Given the description of an element on the screen output the (x, y) to click on. 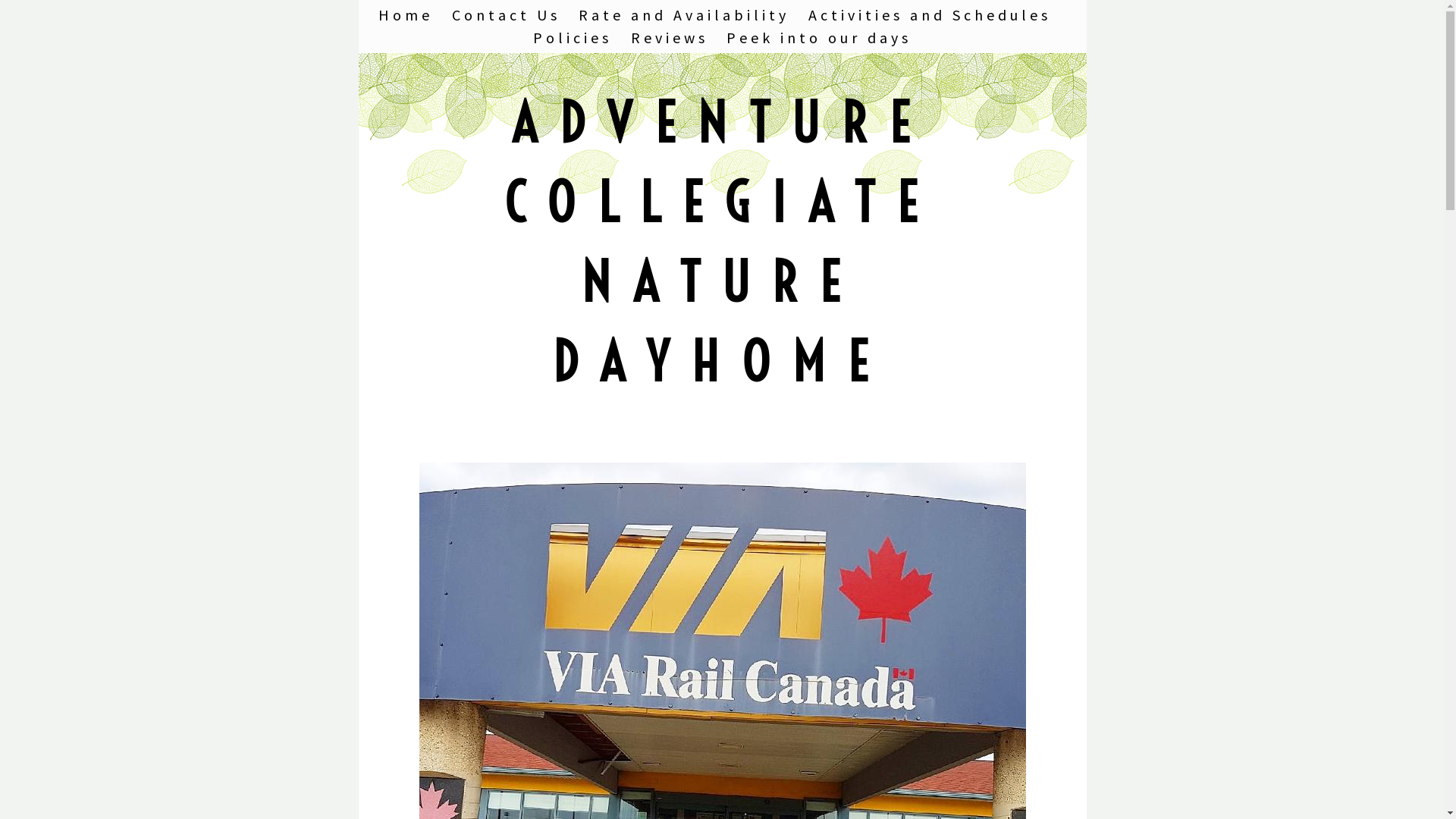
ADVENTURE COLLEGIATE NATURE DAYHOME Element type: text (722, 242)
Activities and Schedules Element type: text (929, 14)
Home Element type: text (405, 14)
Policies Element type: text (572, 37)
Reviews Element type: text (669, 37)
Peek into our days Element type: text (818, 37)
Rate and Availability Element type: text (683, 14)
Contact Us Element type: text (505, 14)
